Given the description of an element on the screen output the (x, y) to click on. 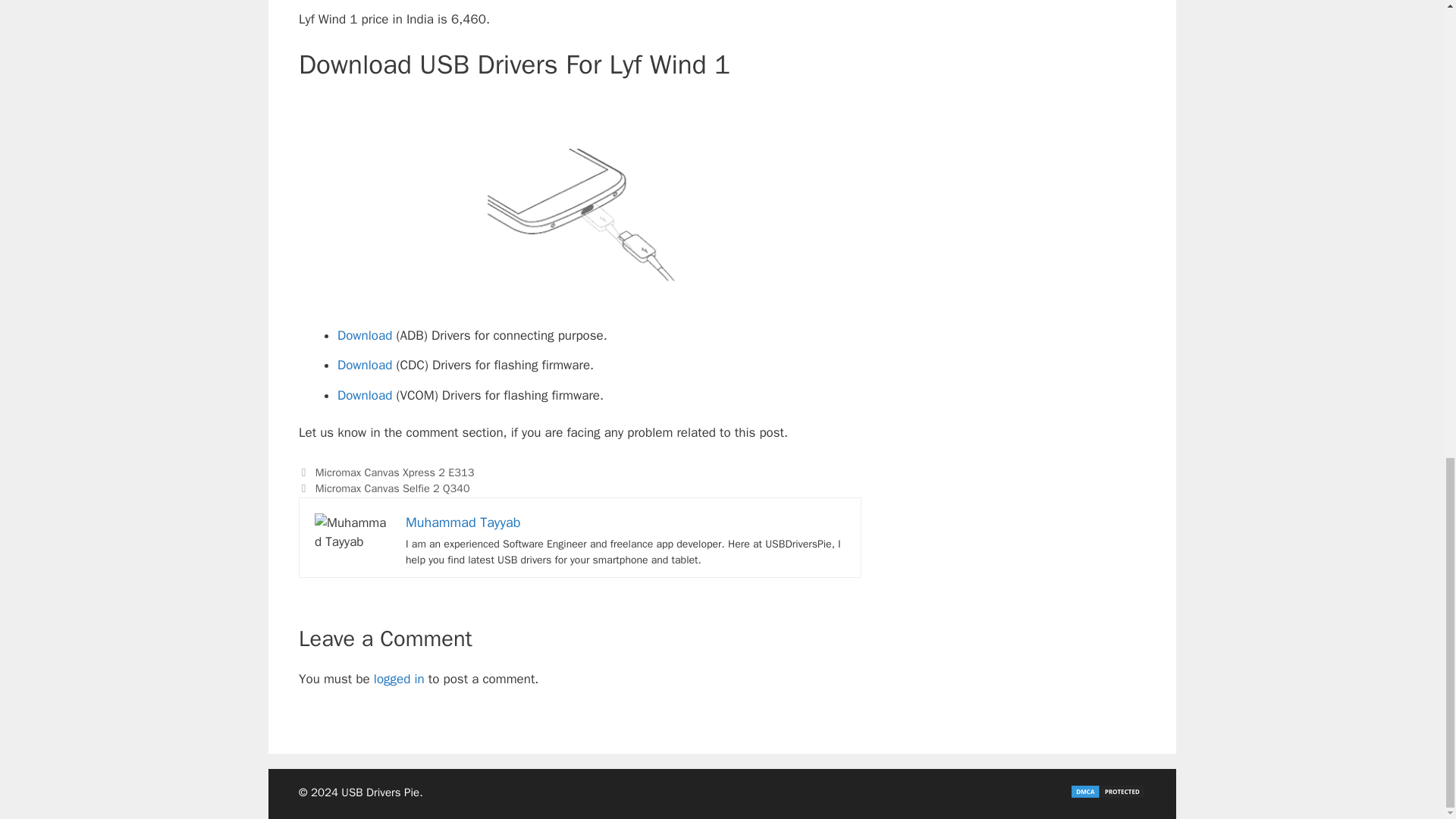
DMCA.com Protection Status (1107, 795)
Download (364, 365)
Download (364, 395)
Micromax Canvas Selfie 2 Q340 (392, 488)
Download (364, 335)
logged in (399, 678)
Micromax Canvas Xpress 2 E313 (394, 472)
Muhammad Tayyab (462, 522)
